Given the description of an element on the screen output the (x, y) to click on. 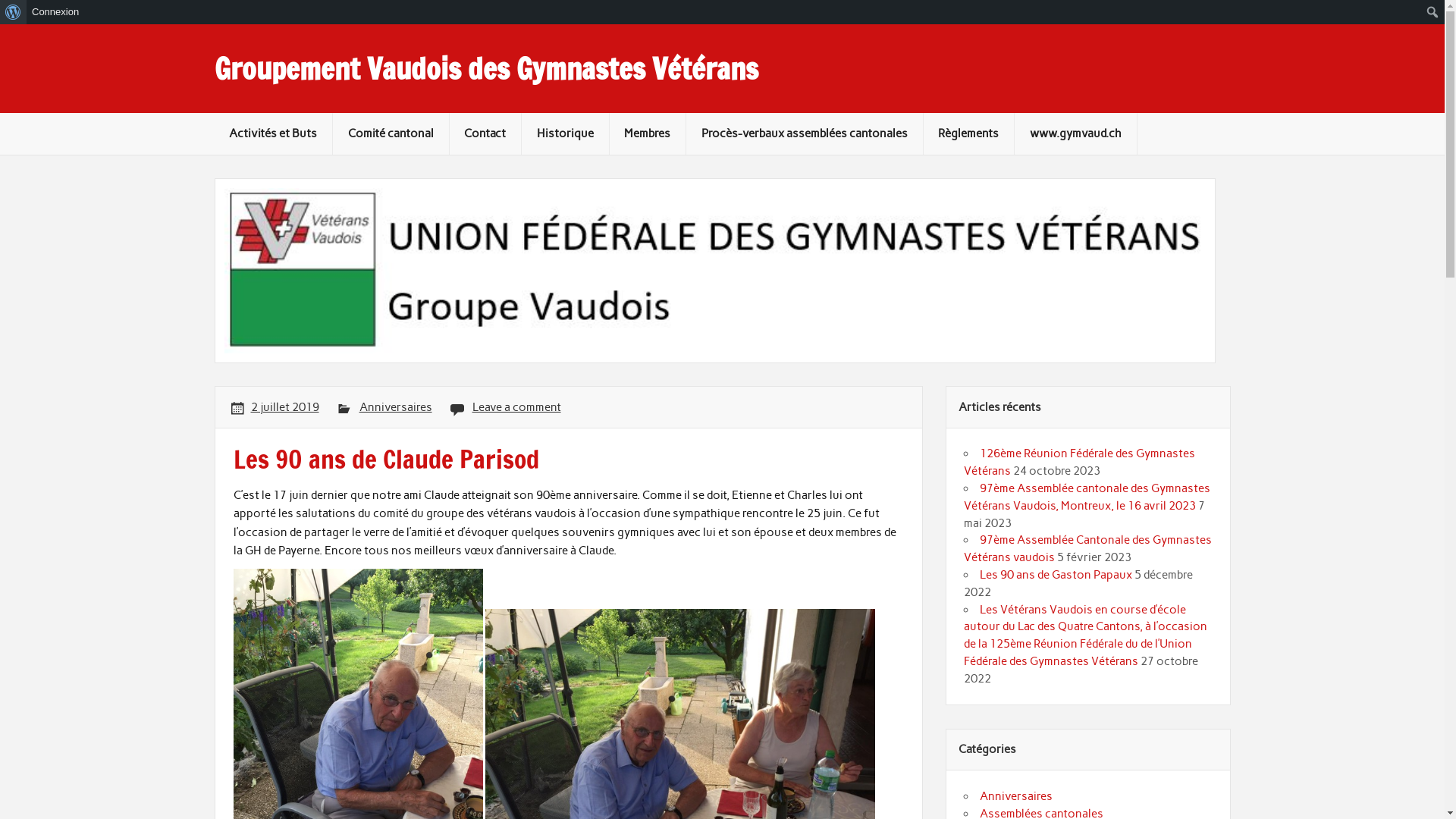
Membres Element type: text (647, 133)
Rechercher Element type: text (12, 12)
Leave a comment Element type: text (516, 407)
Historique Element type: text (564, 133)
Anniversaires Element type: text (395, 407)
Contact Element type: text (484, 133)
Les 90 ans de Gaston Papaux Element type: text (1055, 574)
2 juillet 2019 Element type: text (285, 407)
Connexion Element type: text (55, 12)
Anniversaires Element type: text (1015, 796)
www.gymvaud.ch Element type: text (1075, 133)
